Given the description of an element on the screen output the (x, y) to click on. 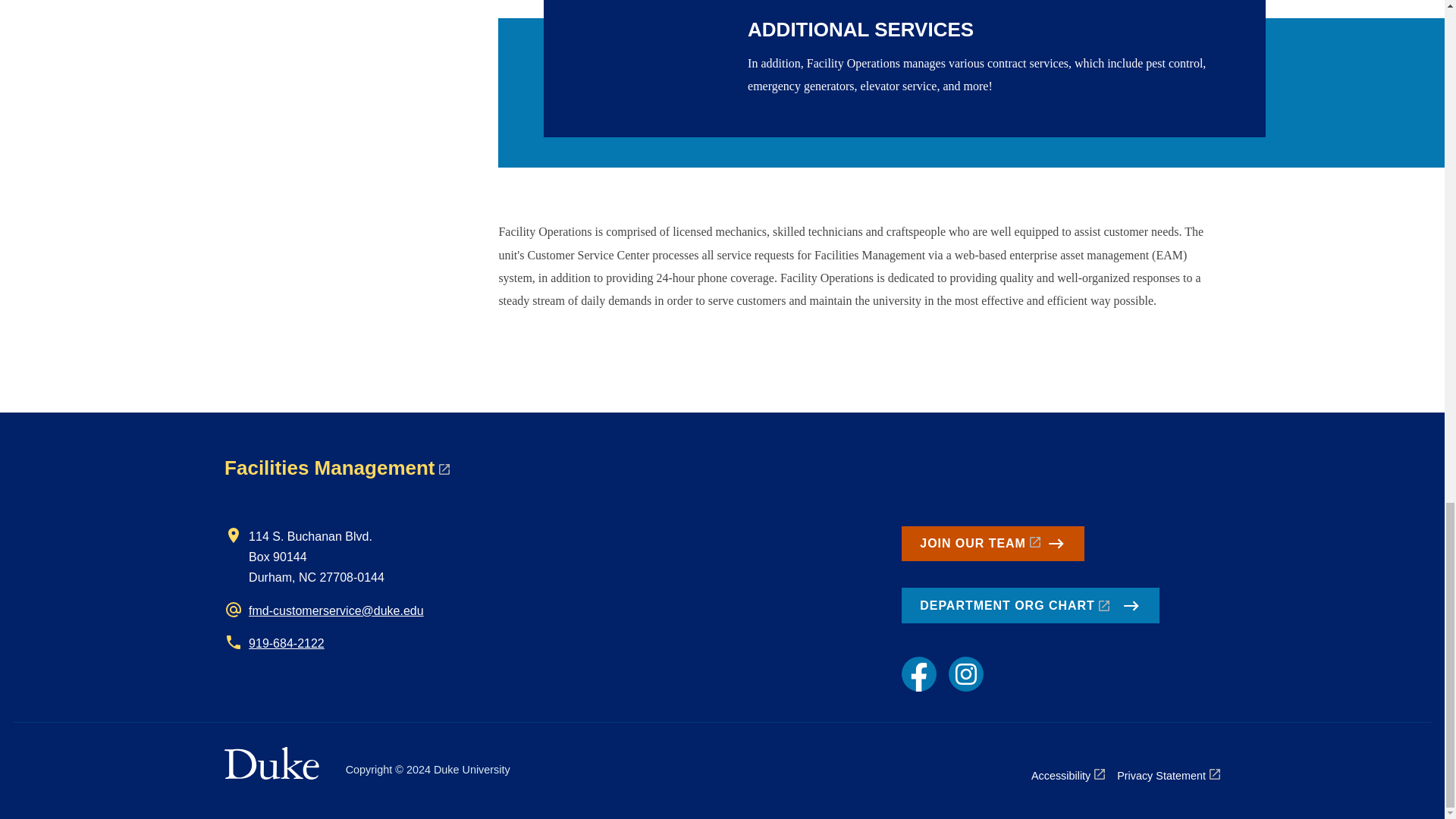
Privacy Statement (1168, 775)
Facebook link (918, 673)
DEPARTMENT ORG CHART (1029, 606)
Facilities Management (336, 467)
JOIN OUR TEAM (992, 543)
Accessibility (1067, 775)
919-684-2122 (286, 643)
Instagram link (966, 673)
